Given the description of an element on the screen output the (x, y) to click on. 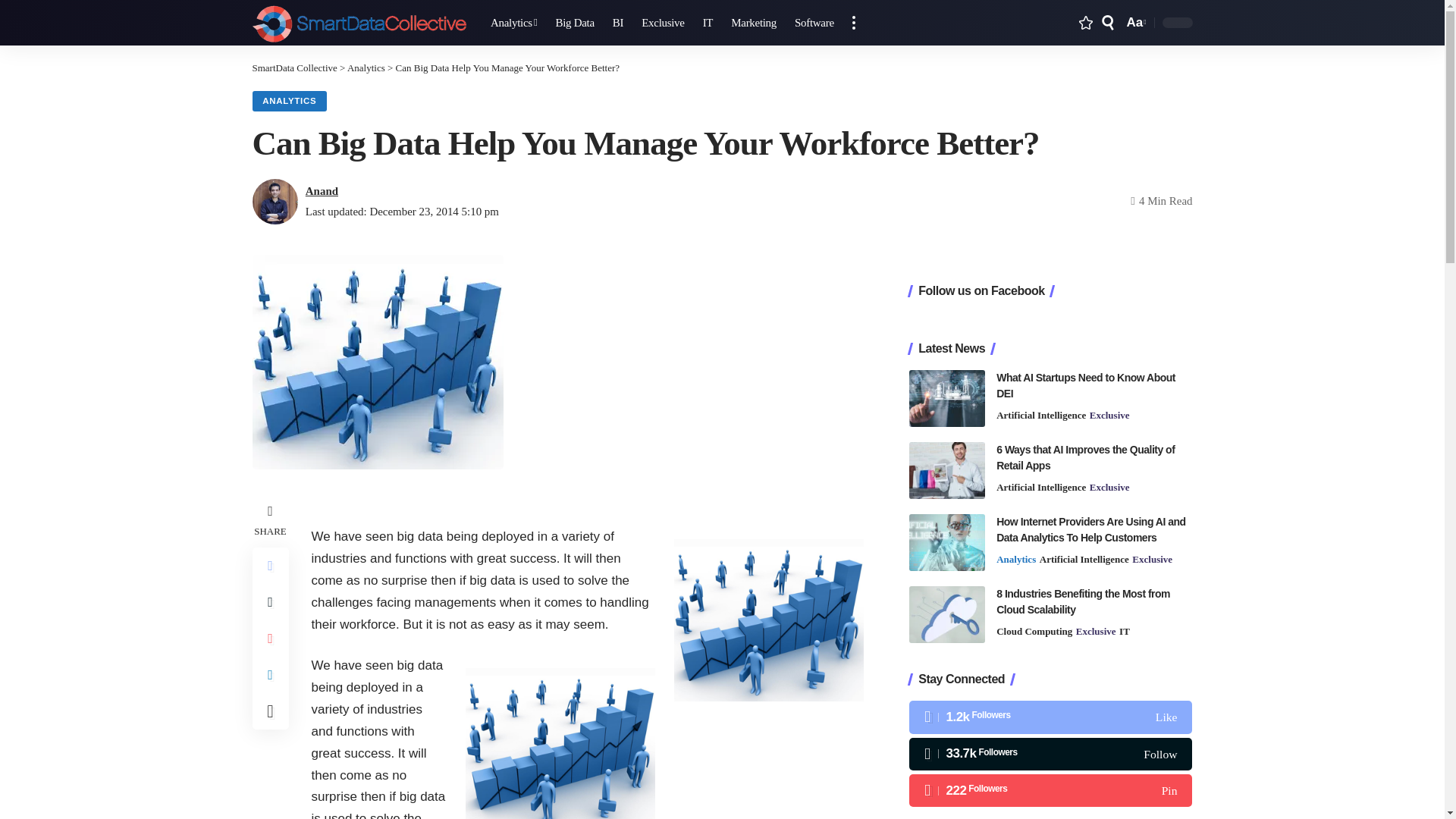
6 Ways that AI Improves the Quality of Retail Apps (946, 470)
Exclusive (662, 22)
Go to the Analytics Category archives. (366, 67)
Big Data (574, 22)
What AI Startups Need to Know About DEI (946, 398)
Go to SmartData Collective. (293, 67)
Marketing (754, 22)
Analytics (513, 22)
